Given the description of an element on the screen output the (x, y) to click on. 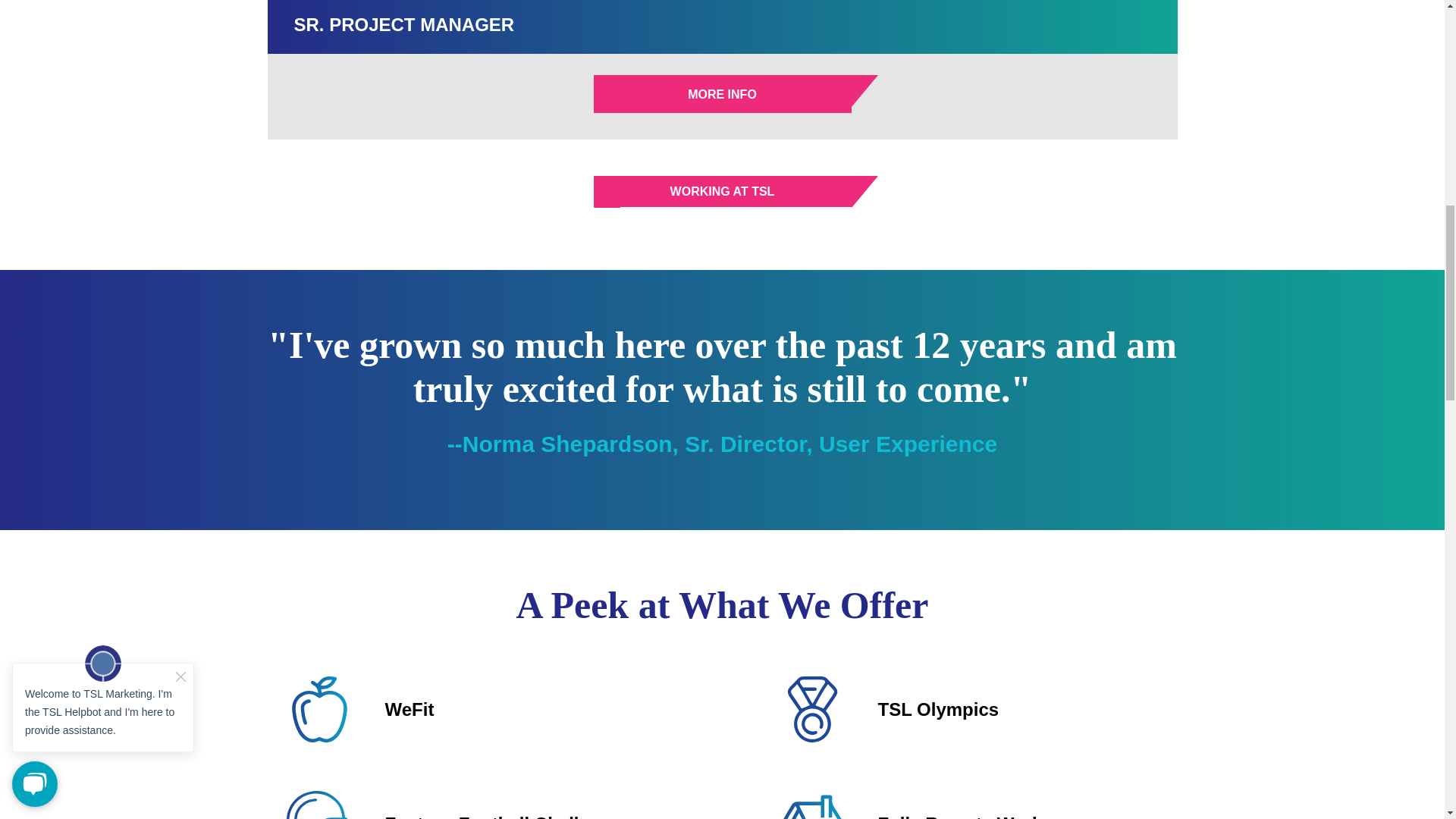
MORE INFO (721, 94)
WORKING AT TSL (721, 191)
